Given the description of an element on the screen output the (x, y) to click on. 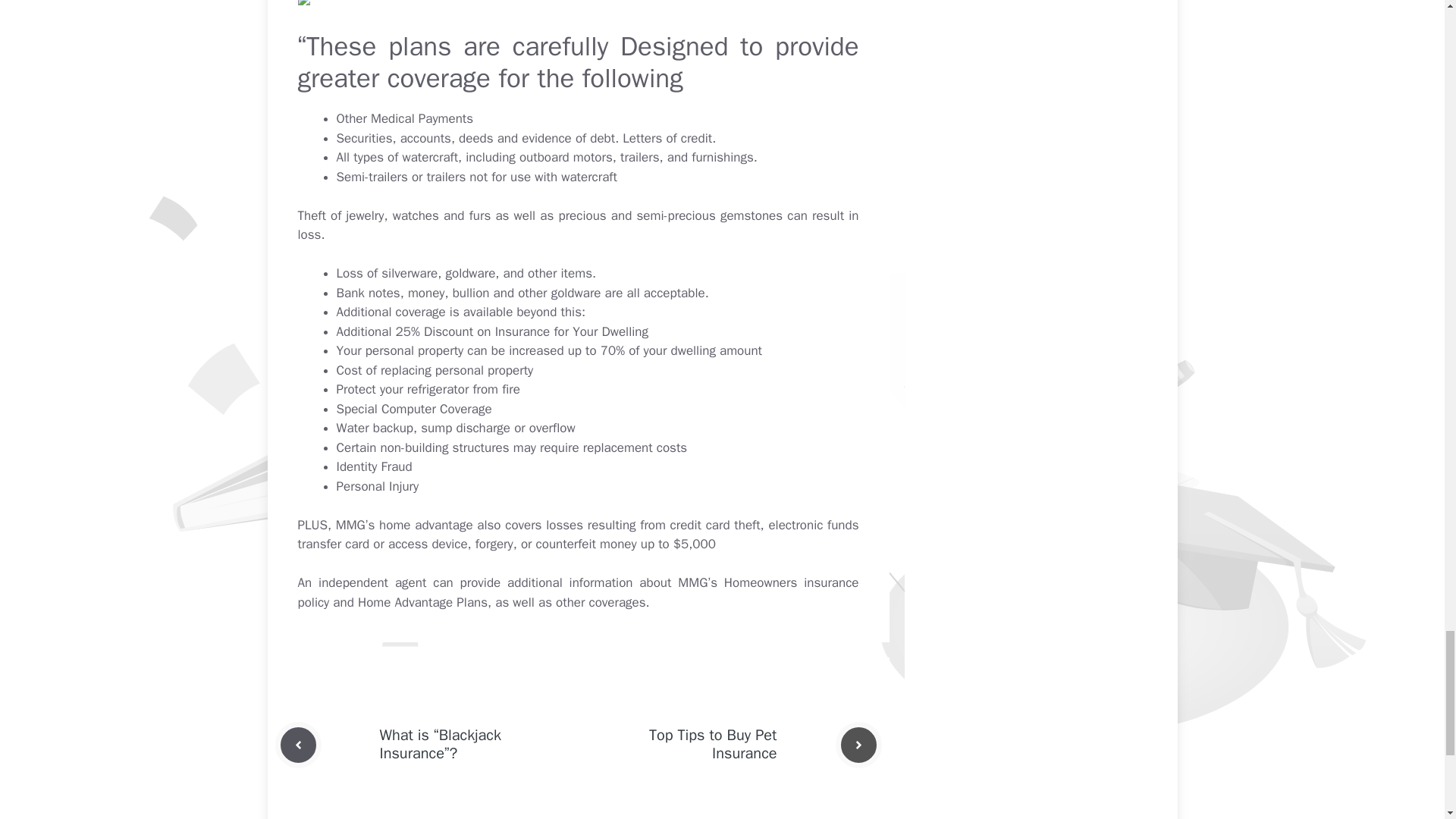
insurance policy (578, 592)
Top Tips to Buy Pet Insurance (713, 743)
